Given the description of an element on the screen output the (x, y) to click on. 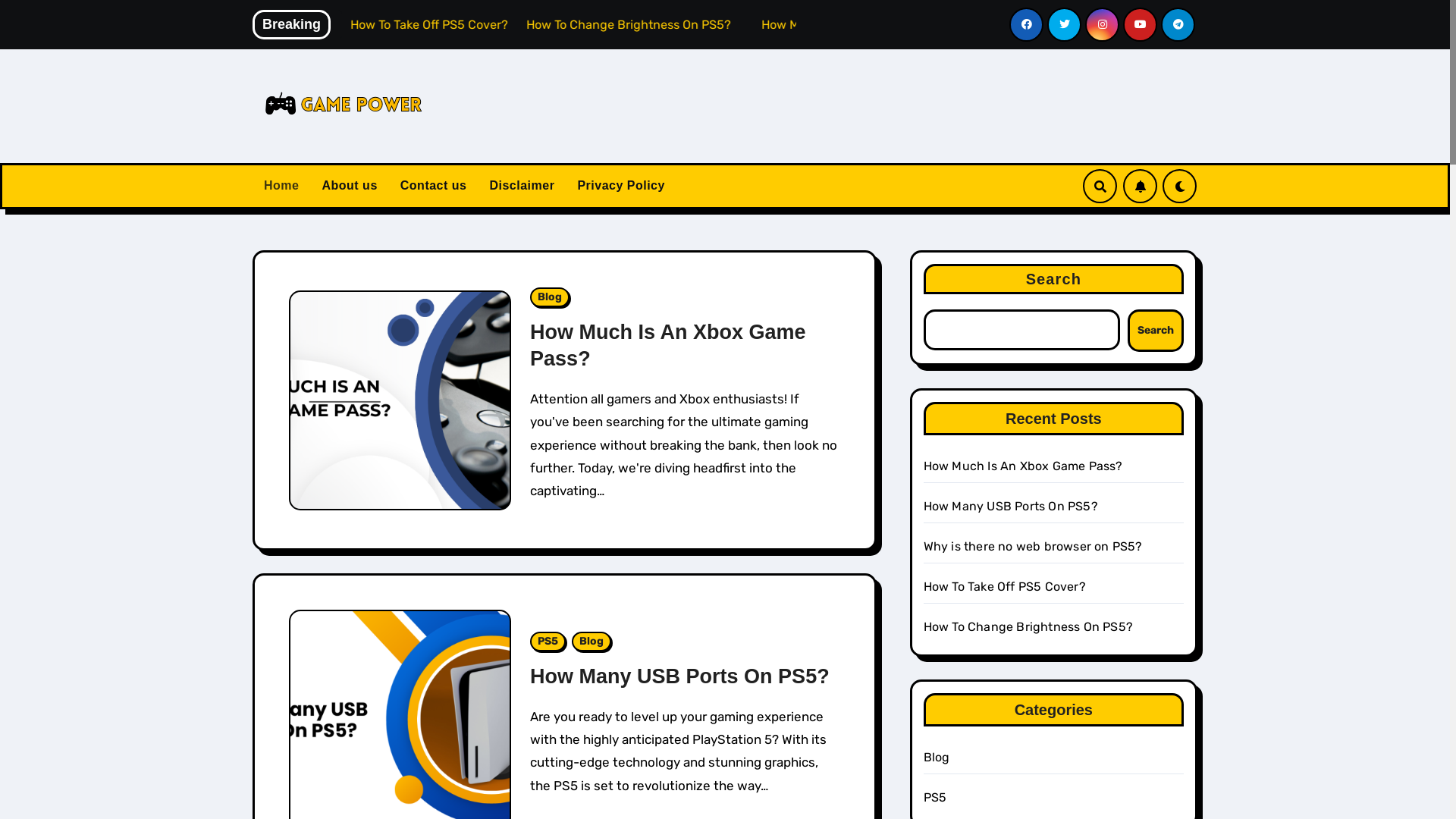
How To Change Brightness On PS5? Element type: text (727, 23)
Privacy Policy Element type: text (620, 185)
Blog Element type: text (936, 756)
How To Take Off PS5 Cover? Element type: text (1004, 586)
PS5 Element type: text (547, 641)
About us Element type: text (349, 185)
How Much Is An Xbox Game Pass? Element type: text (668, 345)
How Much Is An Xbox Game Pass? Element type: text (1023, 465)
Why is there no web browser on PS5? Element type: text (1032, 546)
How To Change Brightness On PS5? Element type: text (1027, 626)
Blog Element type: text (549, 297)
Home Element type: text (281, 185)
Contact us Element type: text (433, 185)
Search Element type: text (1155, 330)
How Many USB Ports On PS5? Element type: text (1010, 505)
Disclaimer Element type: text (521, 185)
How To Take Off PS5 Cover? Element type: text (530, 23)
Blog Element type: text (591, 641)
How Many USB Ports On PS5? Element type: text (679, 676)
Why is there no web browser on PS5? Element type: text (327, 23)
PS5 Element type: text (935, 797)
